Given the description of an element on the screen output the (x, y) to click on. 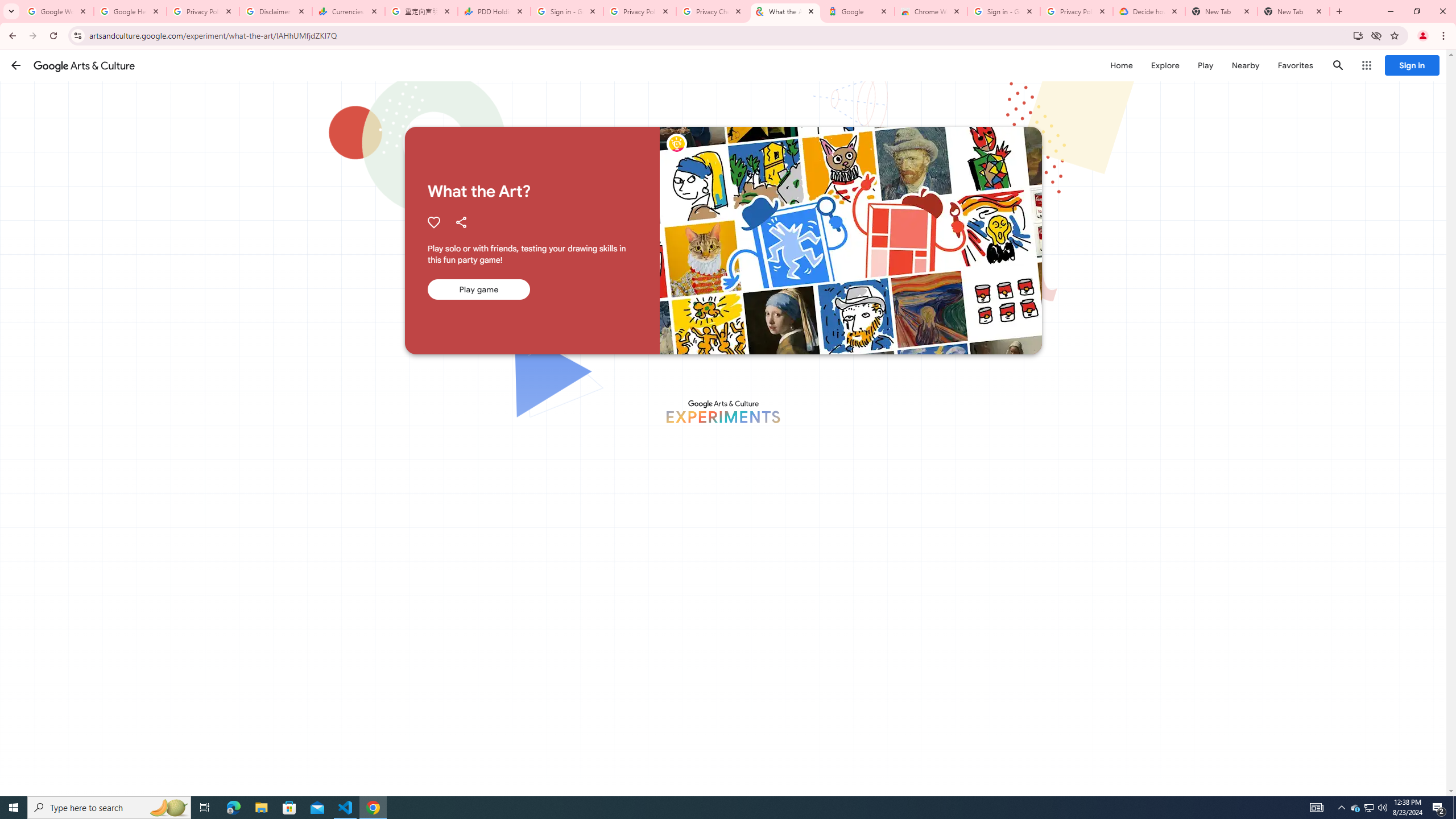
Chrome Web Store - Color themes by Chrome (930, 11)
Currencies - Google Finance (348, 11)
Nearby (1244, 65)
